Given the description of an element on the screen output the (x, y) to click on. 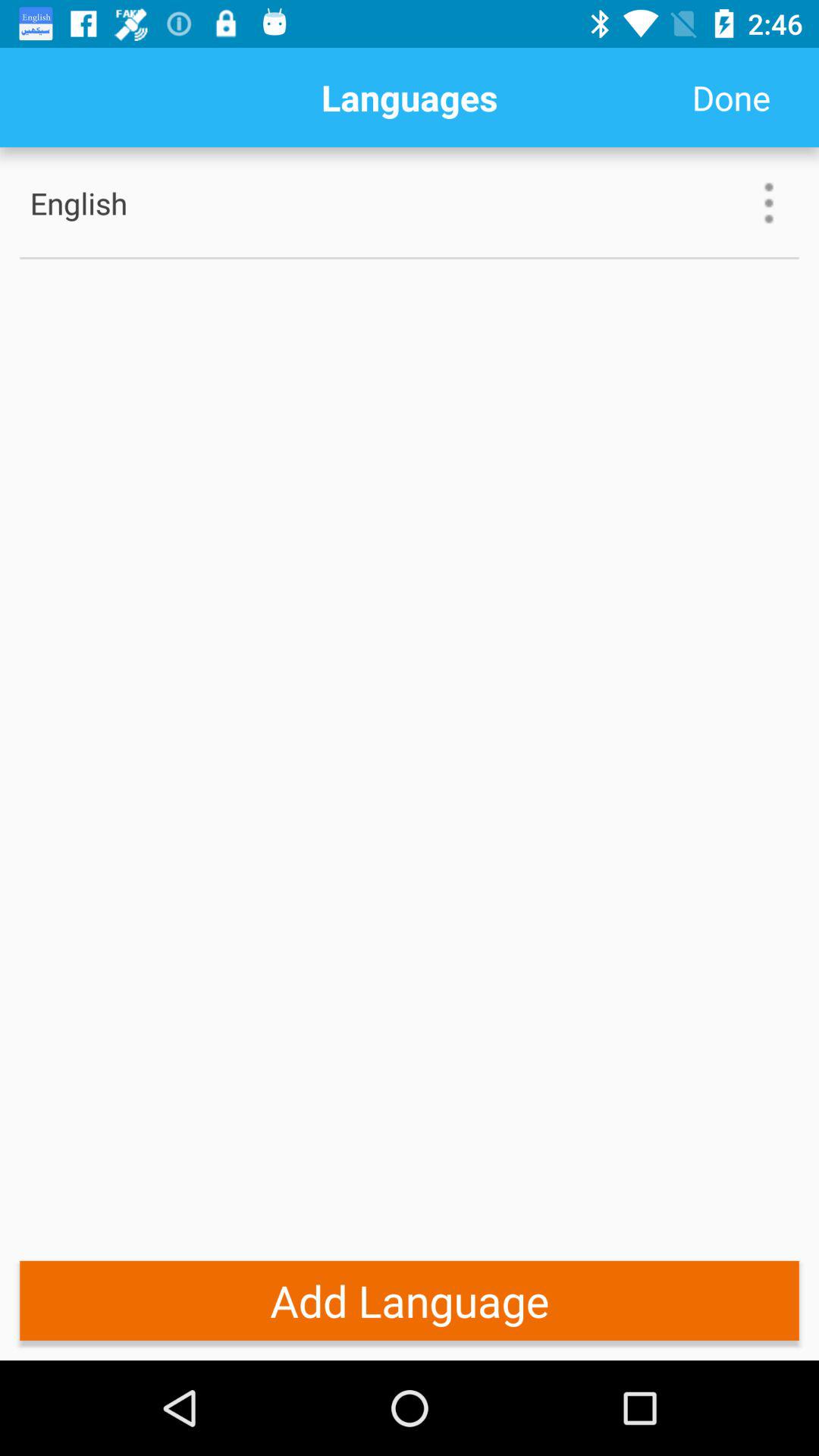
choose item above add language icon (409, 258)
